Given the description of an element on the screen output the (x, y) to click on. 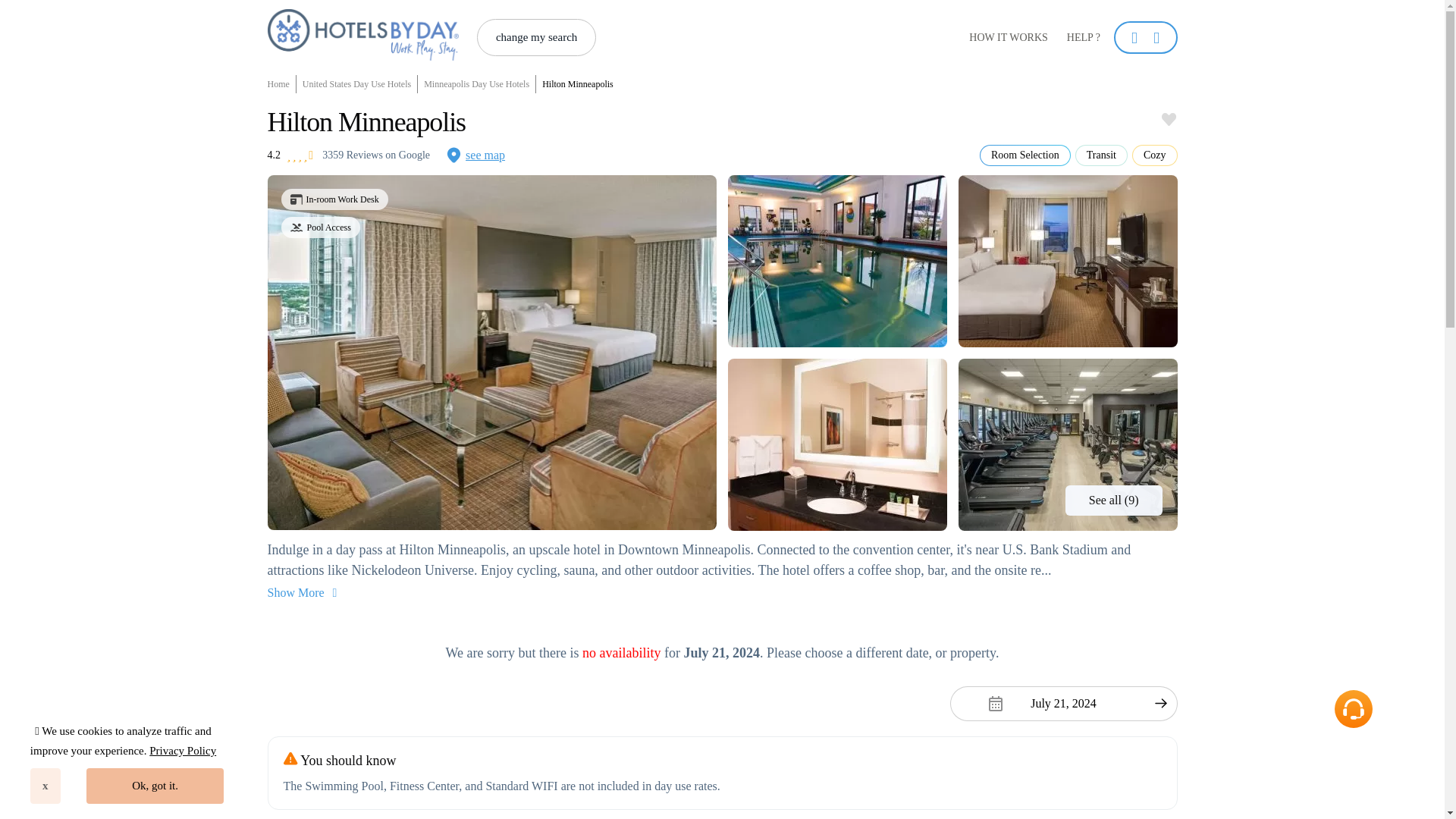
United States Day Use Hotels (357, 84)
July 21, 2024 (1062, 703)
HotelsByDay (362, 56)
Calendar (1062, 703)
change my search (536, 37)
Ok, got it. (154, 785)
Home (280, 84)
HotelsByDay (362, 34)
HOW IT WORKS (1007, 37)
United States Day Use Hotels (357, 84)
Home (280, 84)
Minneapolis Day Use Hotels (476, 84)
Minneapolis Day Use Hotels (476, 84)
Privacy Policy (182, 750)
HELP ? (1083, 37)
